Given the description of an element on the screen output the (x, y) to click on. 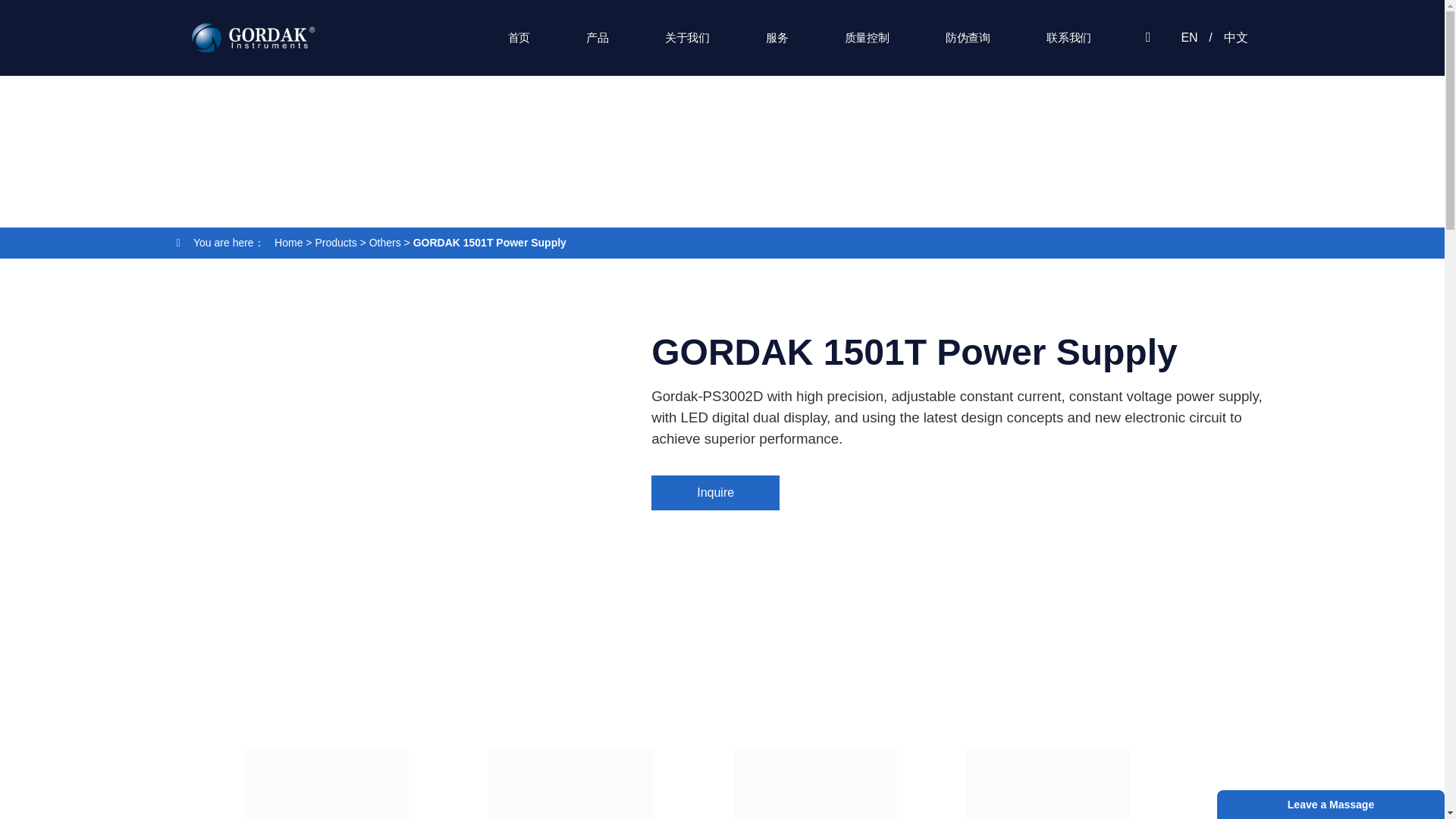
Products (335, 242)
EN (1189, 37)
Home (288, 242)
